Given the description of an element on the screen output the (x, y) to click on. 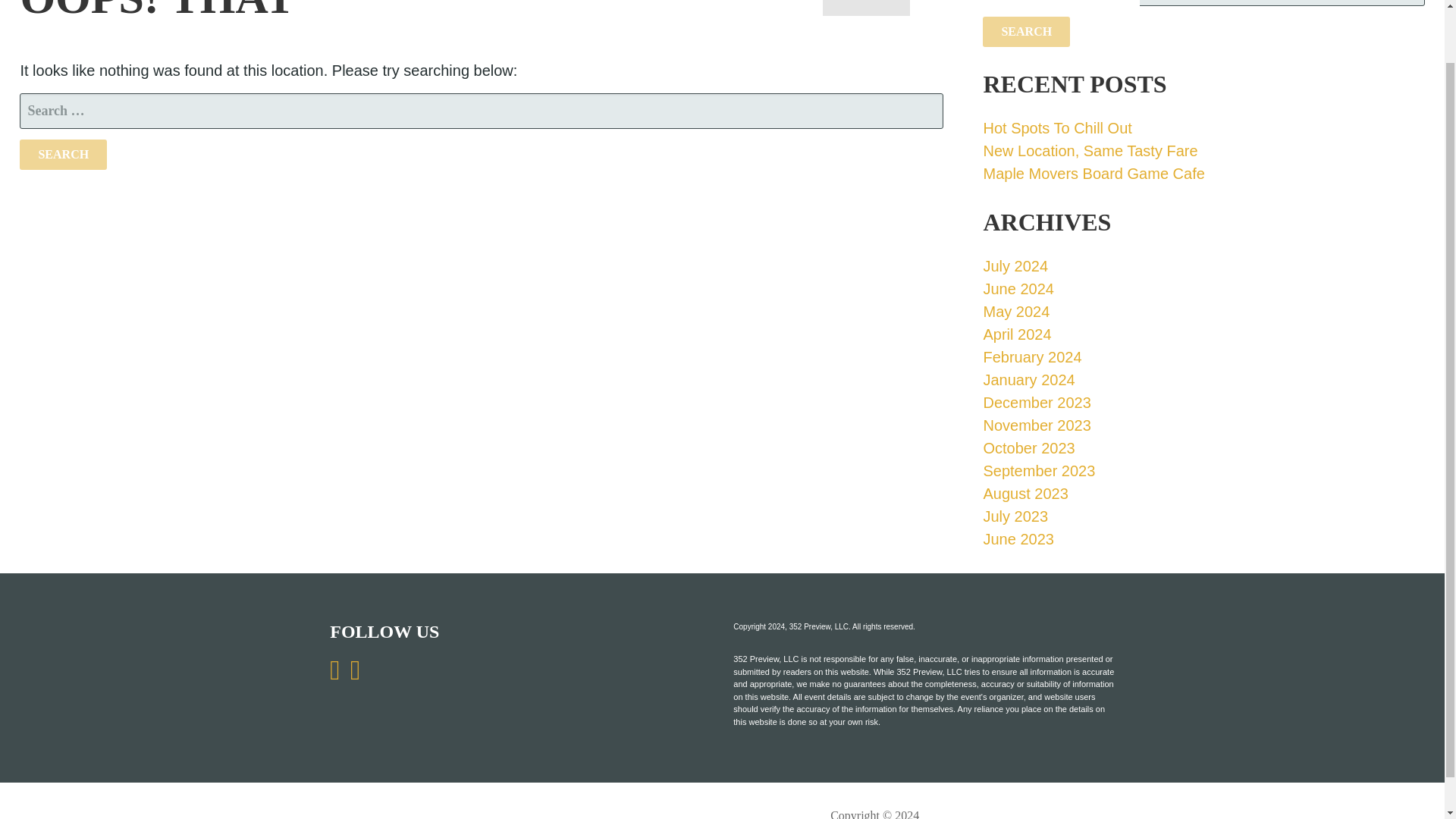
Hot Spots To Chill Out (1056, 127)
SUBMIT EVENT (1075, 7)
May 2024 (1015, 311)
October 2023 (1028, 447)
August 2023 (1024, 493)
September 2023 (1038, 470)
November 2023 (1036, 425)
STORIES (866, 7)
Search (63, 153)
February 2024 (1031, 356)
CONTACT US (590, 7)
Search (1026, 30)
June 2023 (1017, 538)
New Location, Same Tasty Fare (1089, 150)
July 2023 (1015, 515)
